Given the description of an element on the screen output the (x, y) to click on. 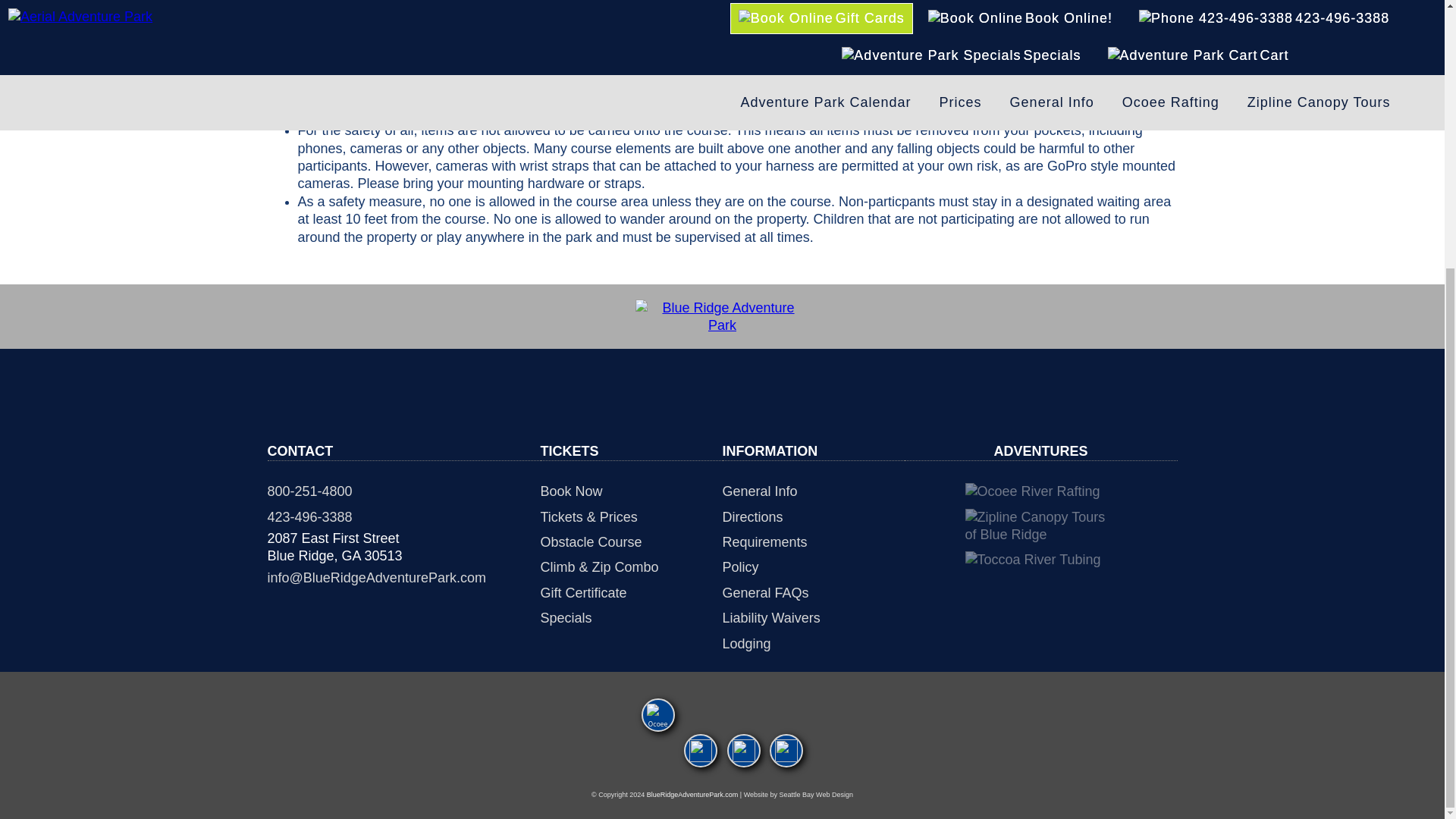
800-251-4800 (403, 491)
423-496-3388 (403, 517)
Book Now (631, 491)
Gift Certificate (631, 593)
Specials (631, 618)
Obstacle Course (631, 542)
